Given the description of an element on the screen output the (x, y) to click on. 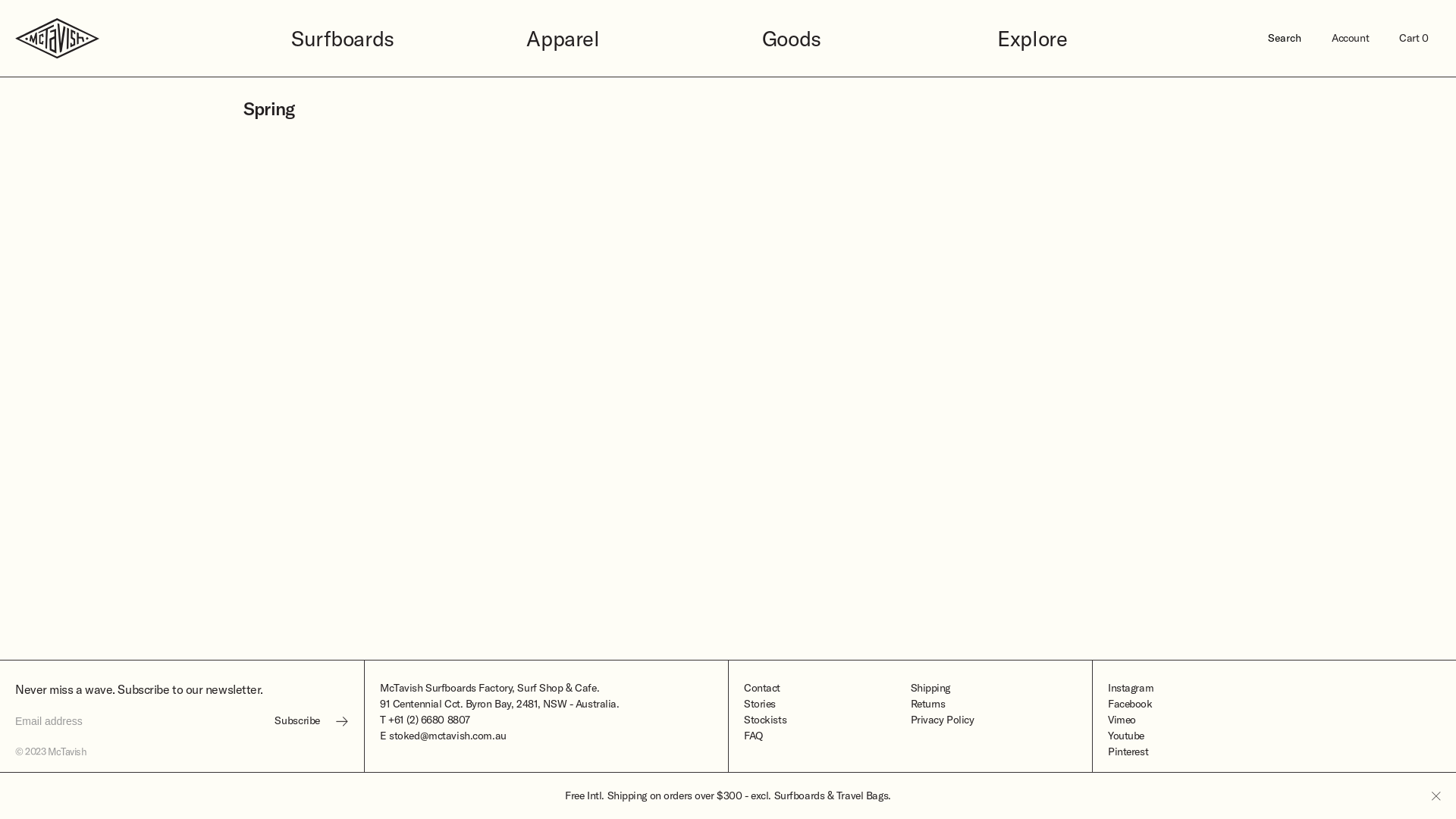
Privacy Policy Element type: text (993, 720)
Youtube Element type: text (1273, 735)
Search Element type: text (1284, 38)
Shipping Element type: text (993, 688)
Contact Element type: text (826, 688)
Stories Element type: text (826, 704)
Surfboards Element type: text (393, 38)
Cart
0 Element type: text (1413, 38)
Returns Element type: text (993, 704)
+61 (2) 6680 8807 Element type: text (429, 719)
Vimeo Element type: text (1273, 720)
Goods Element type: text (864, 38)
Pinterest Element type: text (1273, 751)
McTavish Surfboards | Home Element type: hover (138, 38)
Subscribe Element type: text (311, 720)
Account Element type: text (1349, 38)
Apparel Element type: text (628, 38)
FAQ Element type: text (826, 735)
stoked@mctavish.com.au Element type: text (447, 735)
Instagram Element type: text (1273, 688)
Explore Element type: text (1099, 38)
Stockists Element type: text (826, 720)
Facebook Element type: text (1273, 704)
